Given the description of an element on the screen output the (x, y) to click on. 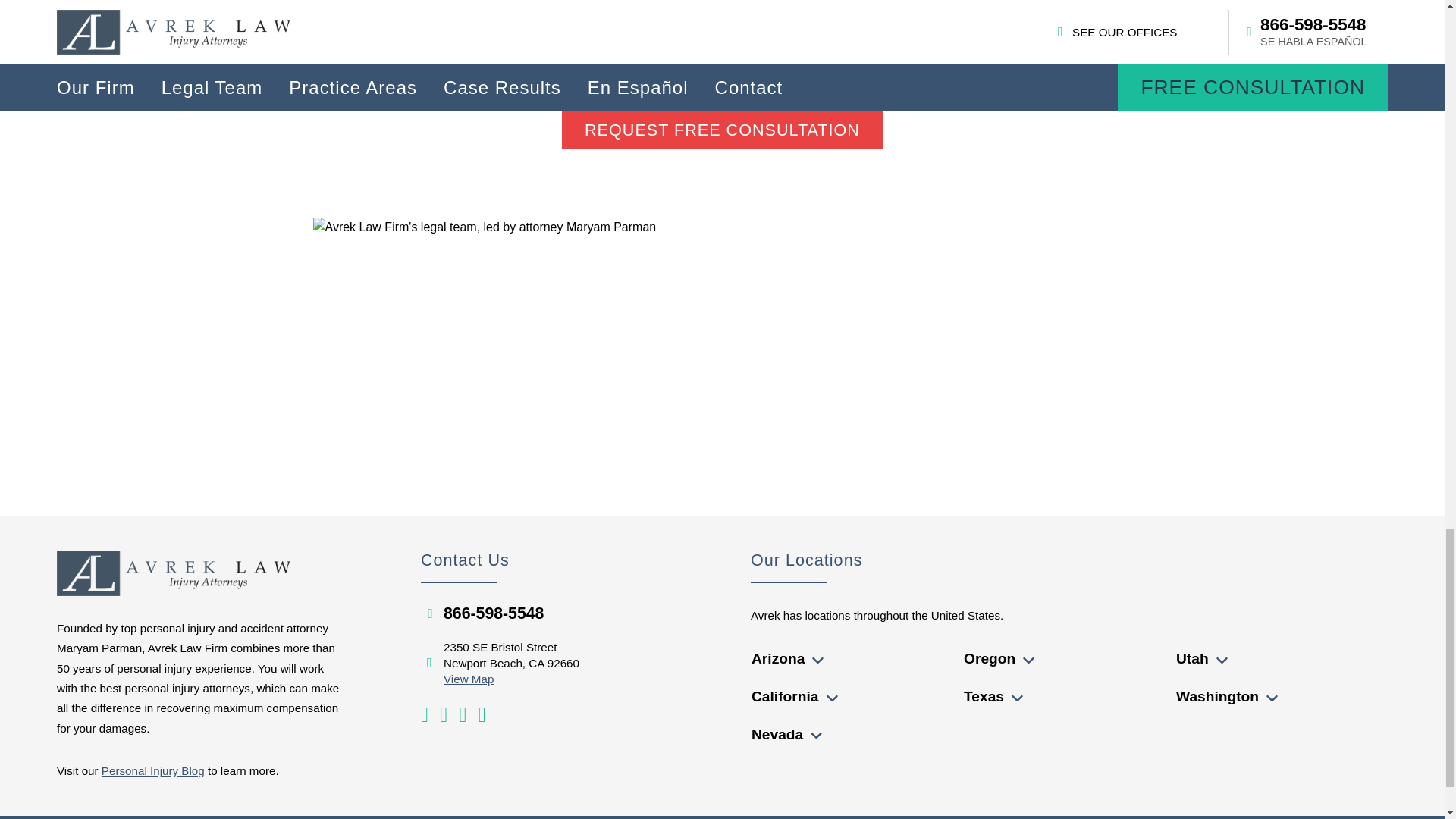
Avrek Law Firm Facebook (442, 714)
Avrek Law Firm LinkedIn (461, 714)
Avrek Law Firm YouTube (424, 714)
Avrek Law Firm Instagram (482, 714)
